Given the description of an element on the screen output the (x, y) to click on. 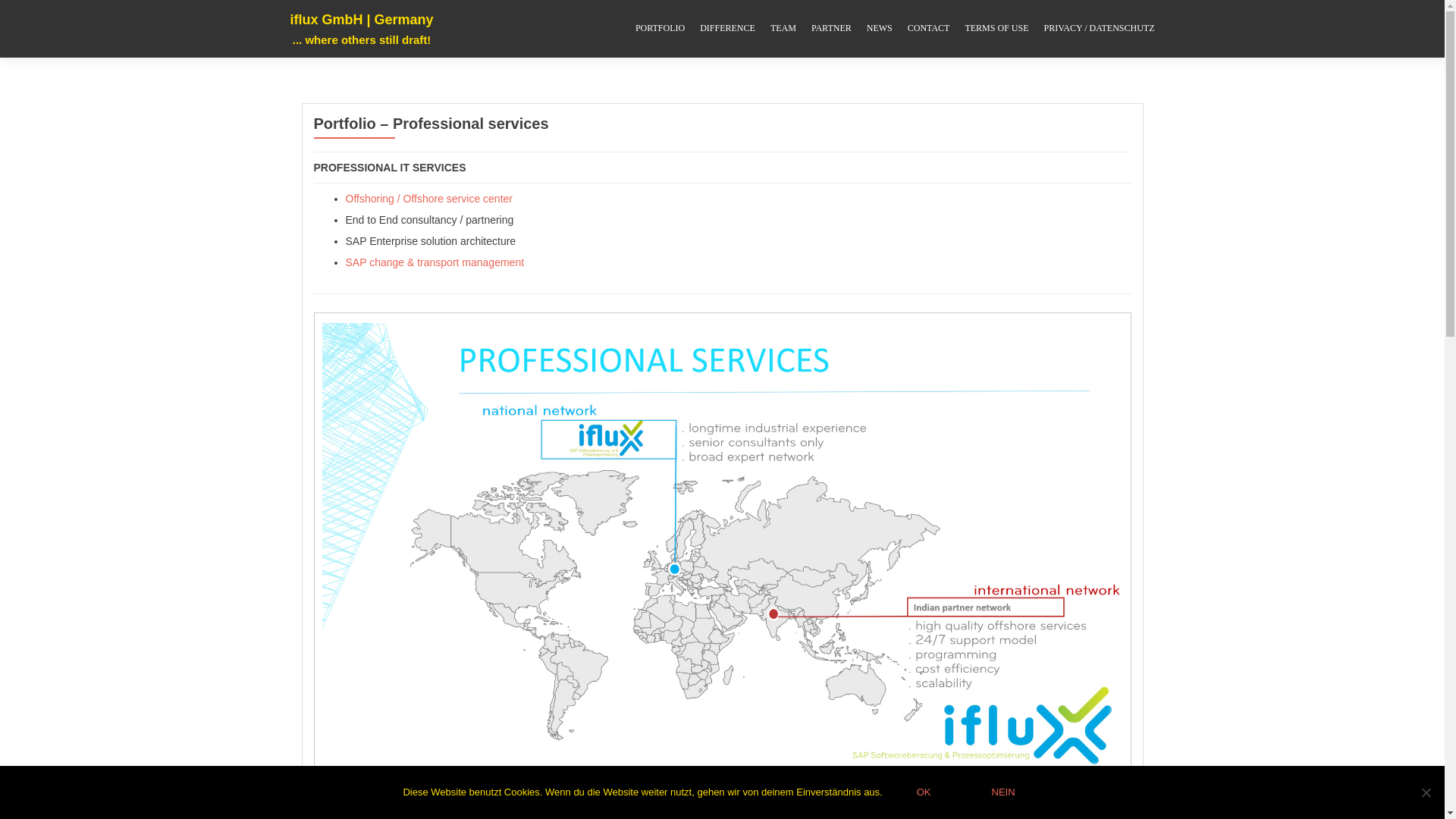
NEIN (1003, 792)
DIFFERENCE (727, 28)
TERMS OF USE (995, 28)
TEAM (783, 28)
OK (923, 792)
CONTACT (928, 28)
PARTNER (830, 28)
Nein (1425, 792)
NEWS (879, 28)
PORTFOLIO (659, 28)
